Given the description of an element on the screen output the (x, y) to click on. 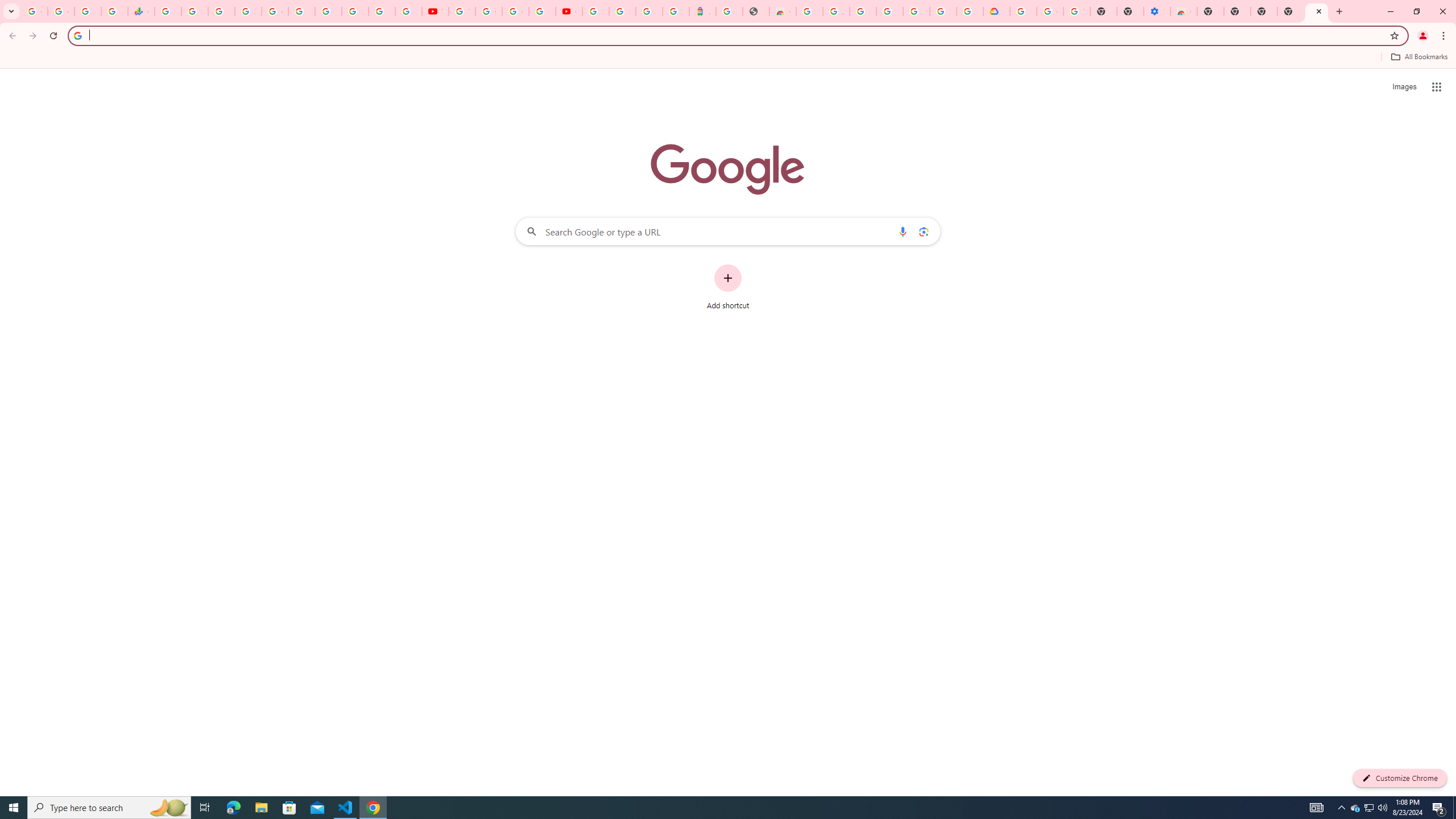
Content Creator Programs & Opportunities - YouTube Creators (569, 11)
Create your Google Account (515, 11)
Settings - Accessibility (1156, 11)
Ad Settings (836, 11)
